Given the description of an element on the screen output the (x, y) to click on. 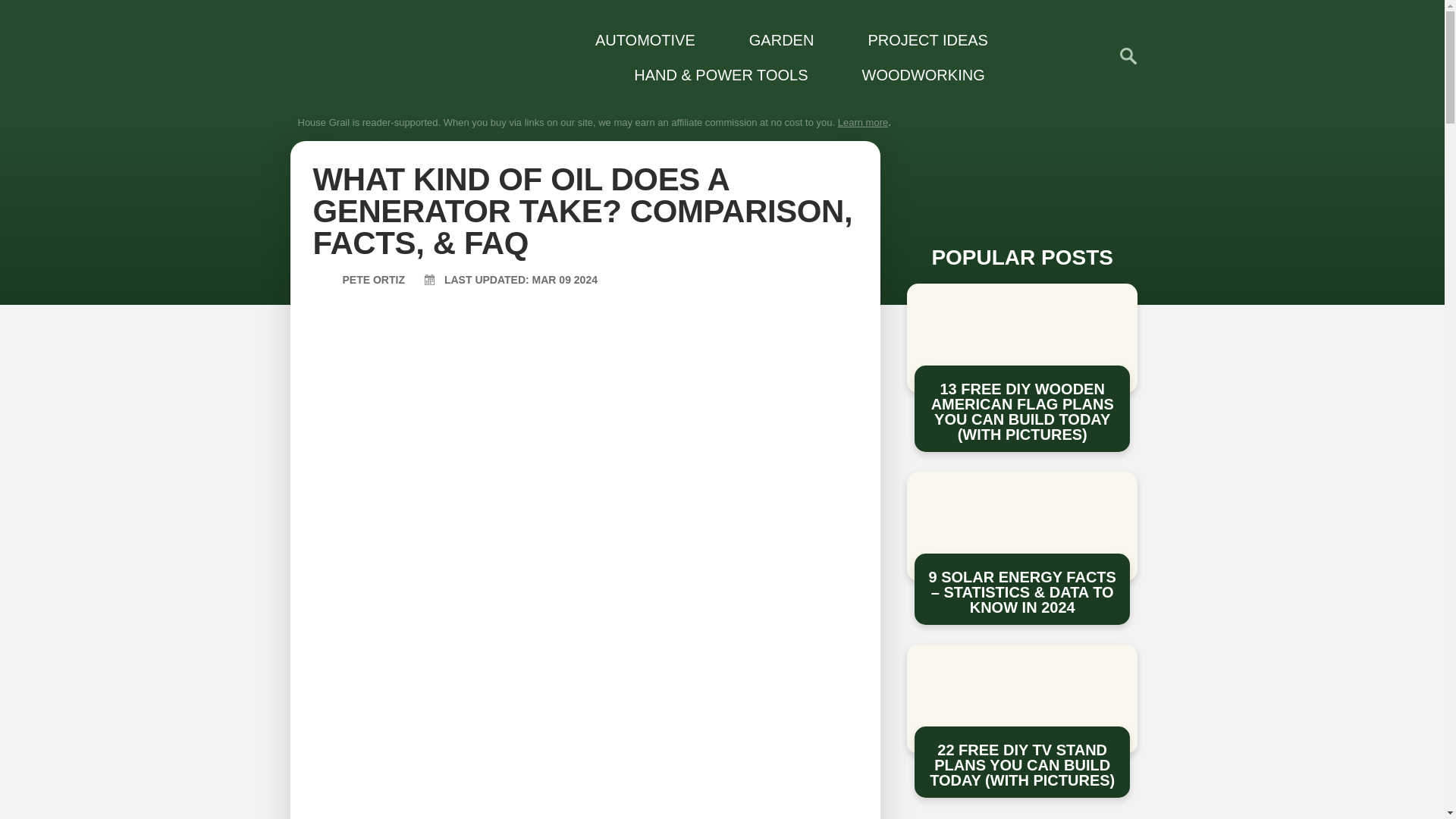
AUTOMOTIVE (635, 39)
WOODWORKING (913, 74)
Learn more (863, 122)
GARDEN (771, 39)
PROJECT IDEAS (918, 39)
